Given the description of an element on the screen output the (x, y) to click on. 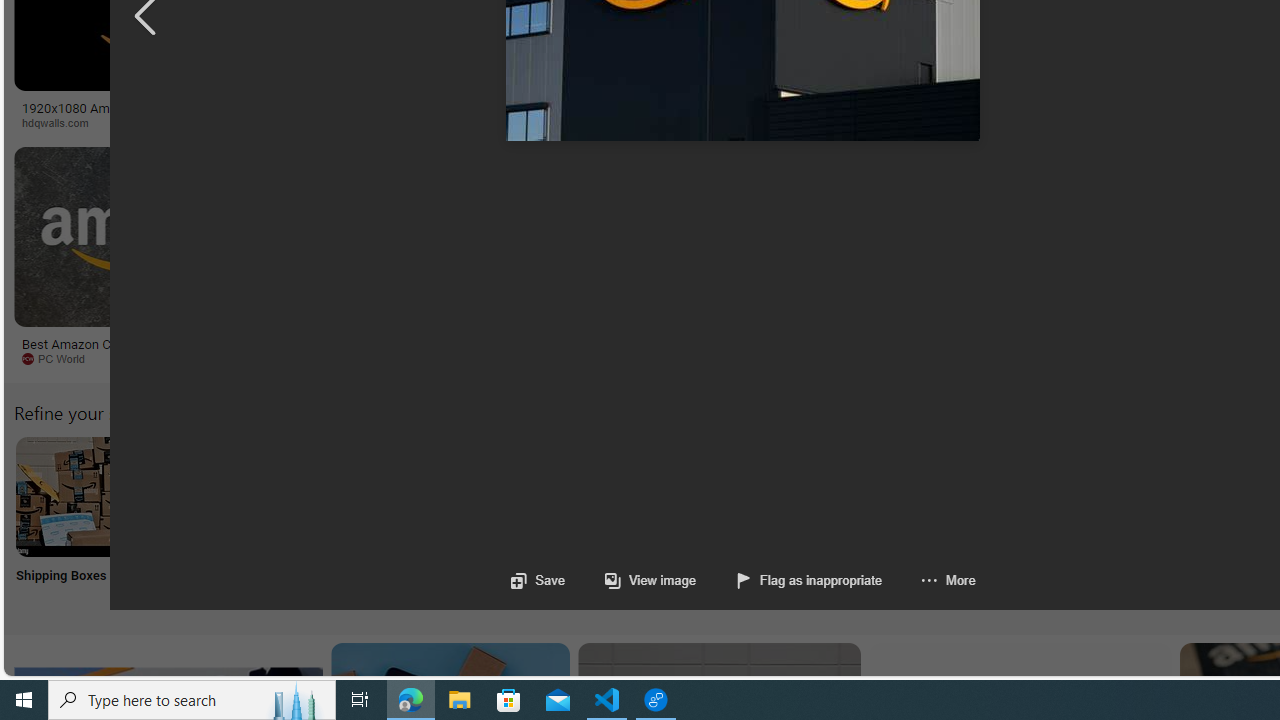
Flag as inappropriate (789, 580)
Marketplace (807, 123)
Image result for amazon (936, 236)
Amazon Retail Store Retail Store (867, 521)
Save (537, 580)
Amazon Shipping Boxes Shipping Boxes (75, 521)
Marketplace (700, 121)
PC World (59, 358)
Online Store (1131, 521)
Amazon Package Delivery Package Delivery (735, 521)
